Given the description of an element on the screen output the (x, y) to click on. 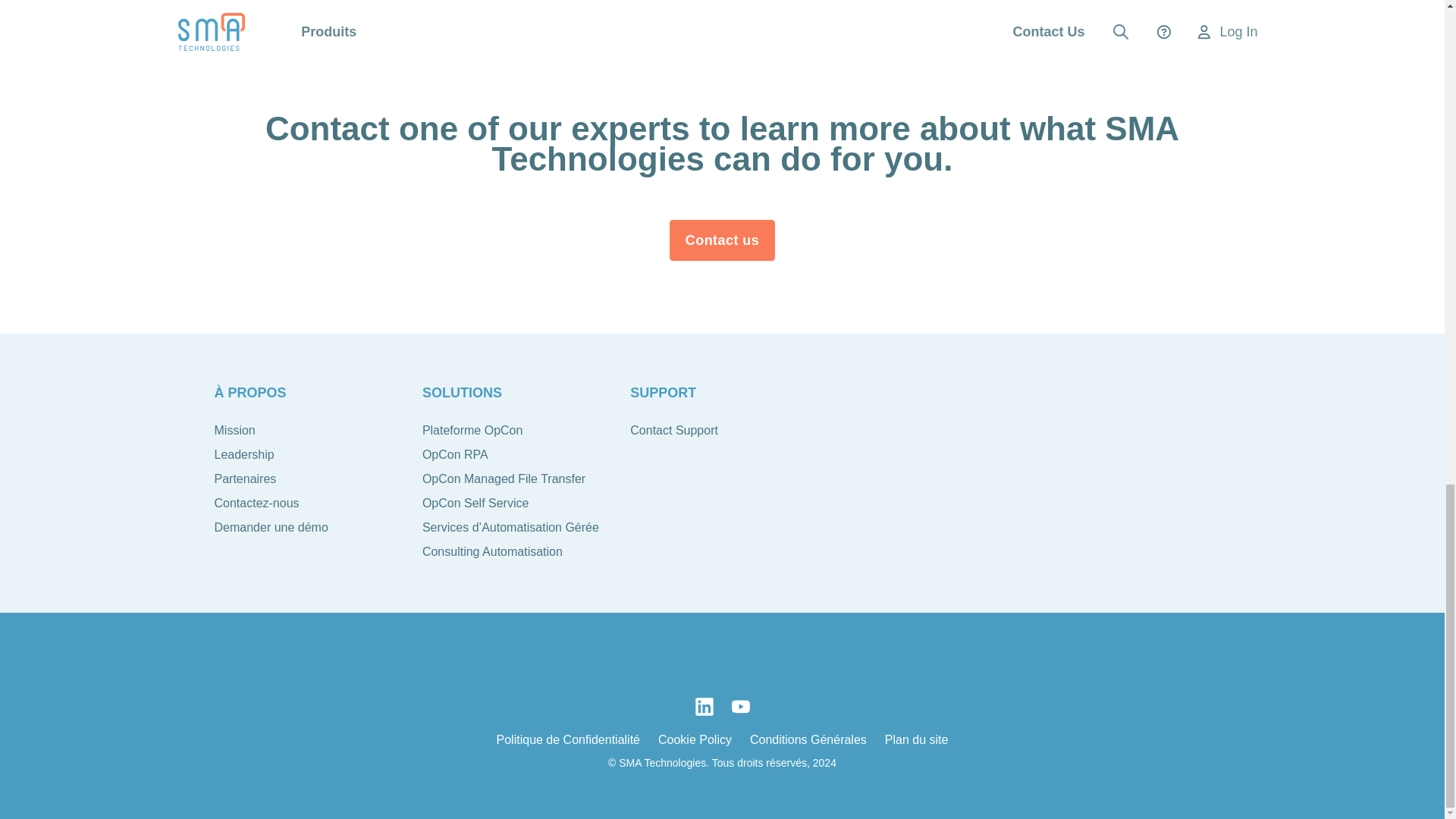
Consulting Automatisation (492, 551)
Contact Support (673, 430)
SUPPORT (662, 392)
OpCon RPA (454, 454)
Plateforme OpCon (472, 430)
OpCon Self Service (475, 503)
SOLUTIONS (462, 392)
Mission (234, 430)
Contact us (722, 240)
Contactez-nous (256, 503)
Cookie Policy (695, 739)
Leadership (243, 454)
OpCon Managed File Transfer (503, 478)
Plan du site (917, 739)
Partenaires (245, 478)
